Given the description of an element on the screen output the (x, y) to click on. 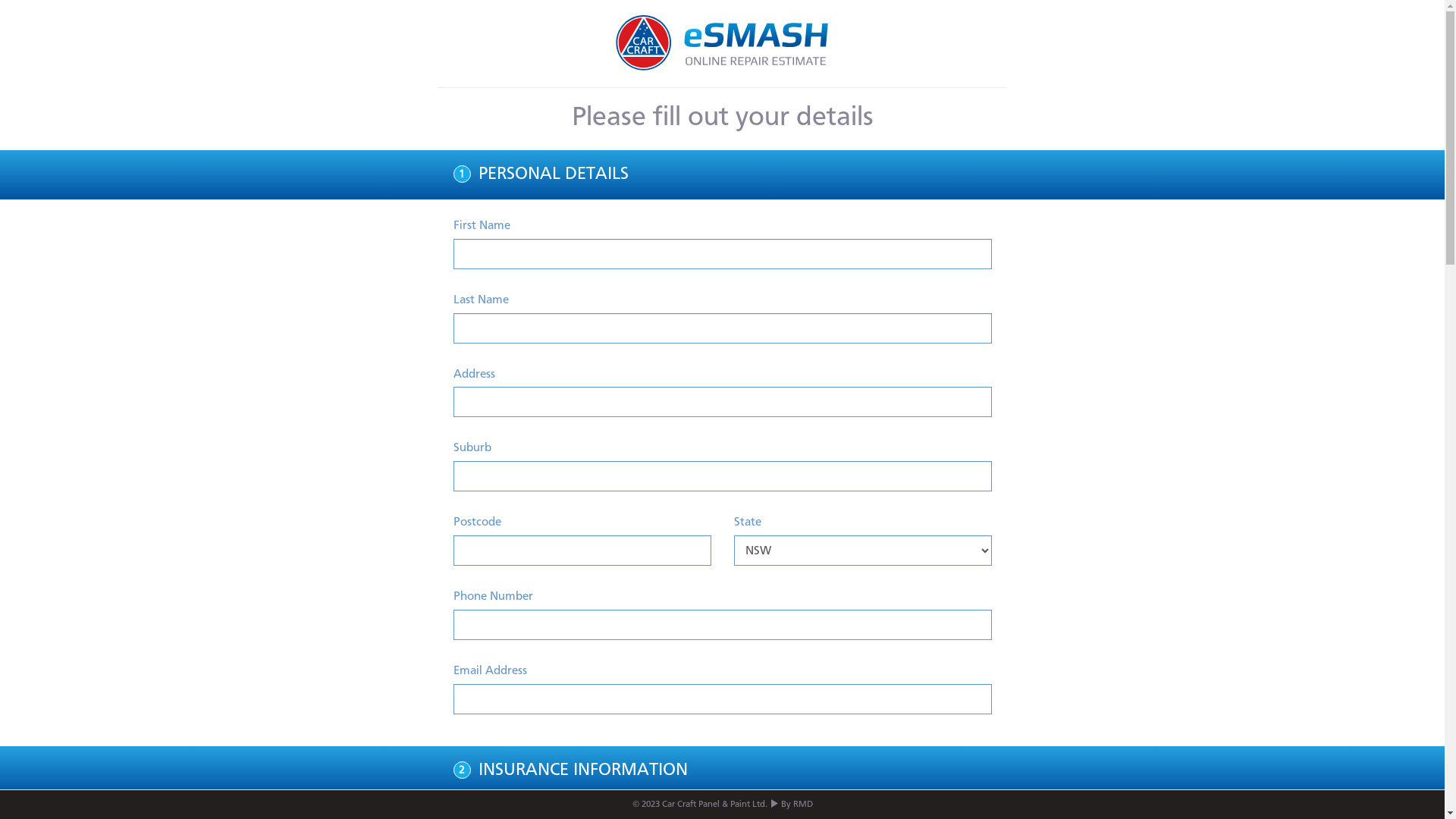
By RMD Element type: text (796, 804)
eSMASH - Online Repair Estimate Element type: text (722, 43)
